Given the description of an element on the screen output the (x, y) to click on. 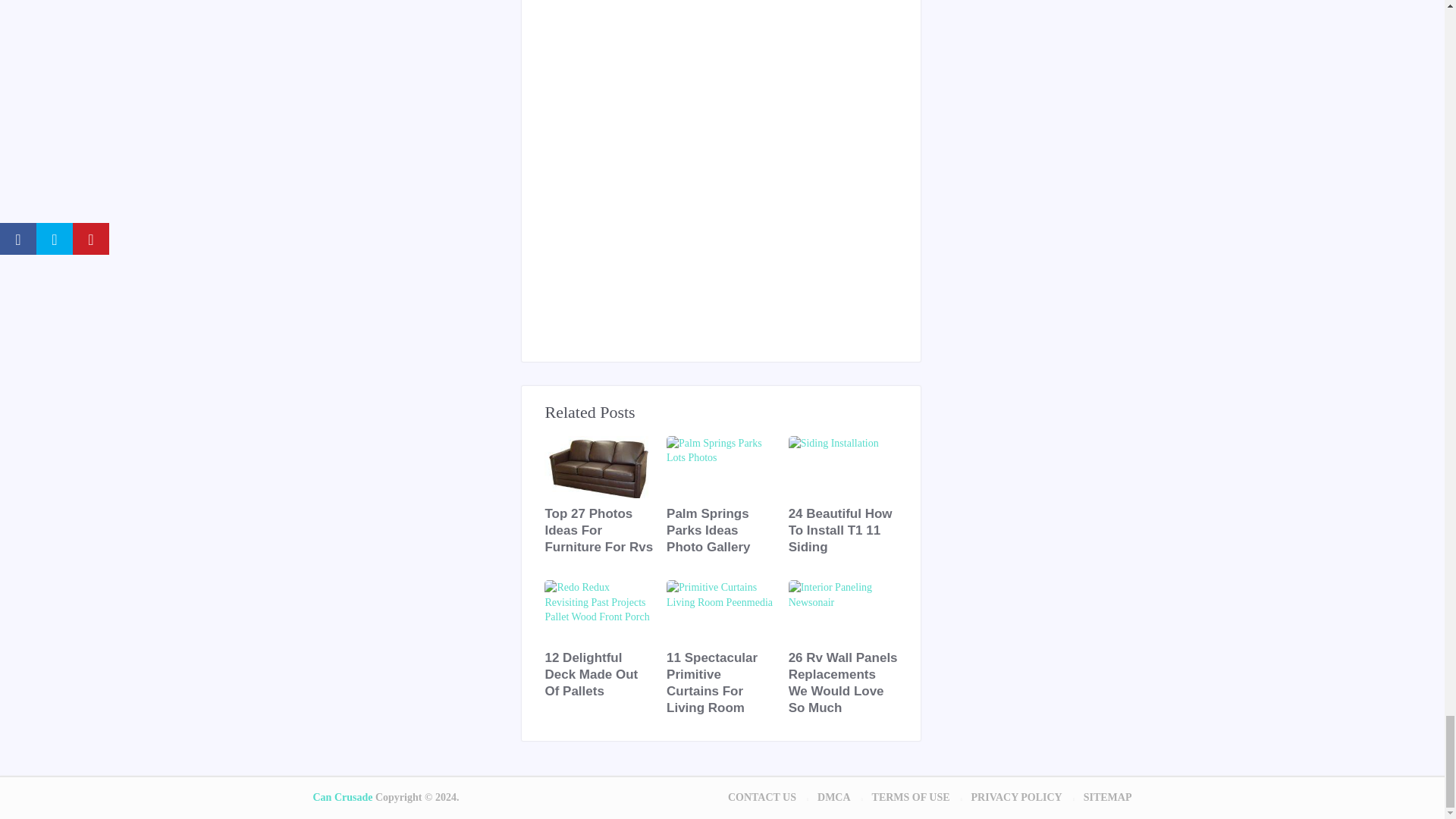
Top 27 Photos Ideas For Furniture For Rvs (598, 531)
Palm Springs Parks Ideas Photo Gallery (721, 531)
24 Beautiful How To Install T1 11 Siding (843, 531)
